Given the description of an element on the screen output the (x, y) to click on. 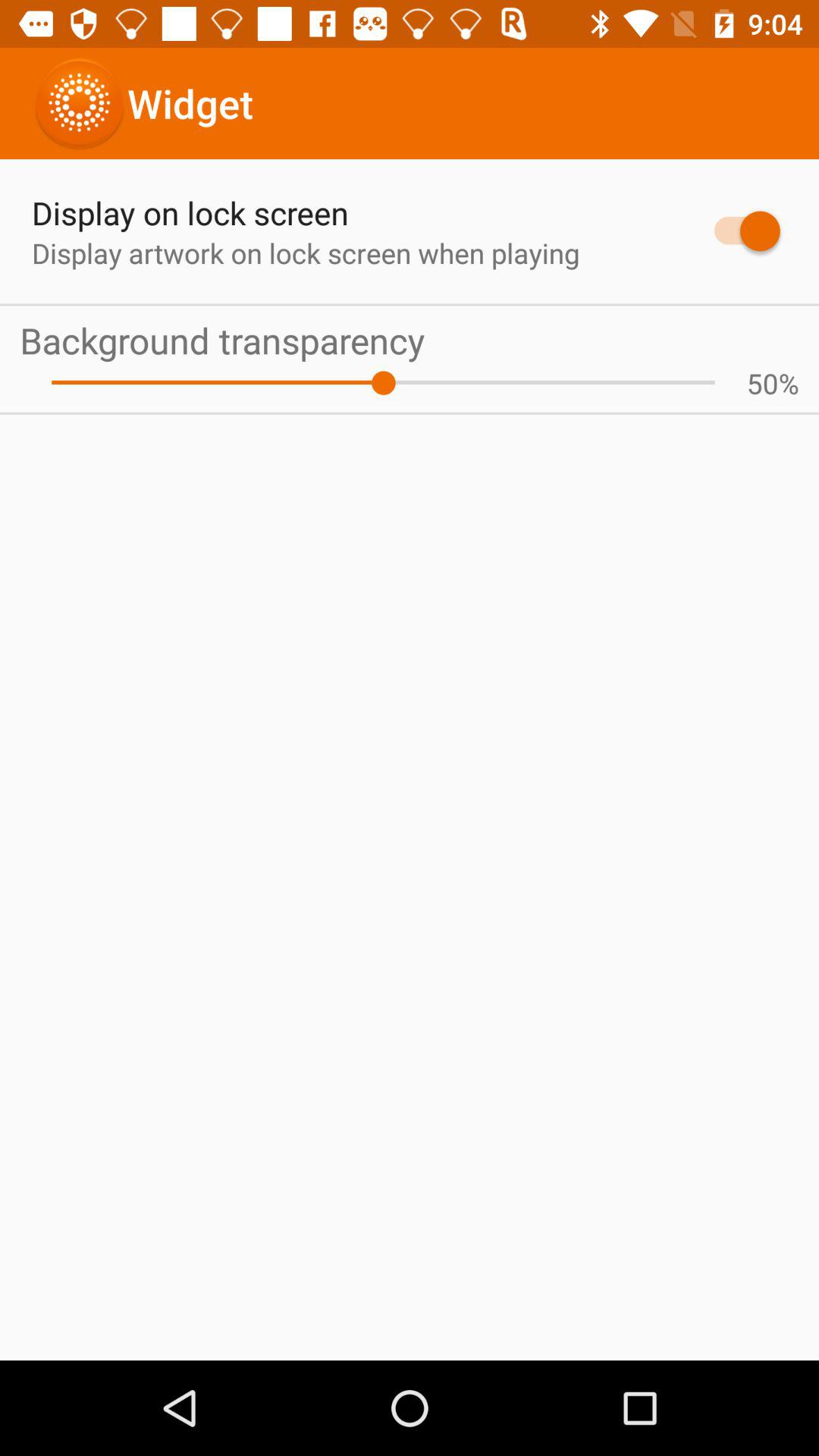
turn off item below the background transparency item (382, 382)
